Given the description of an element on the screen output the (x, y) to click on. 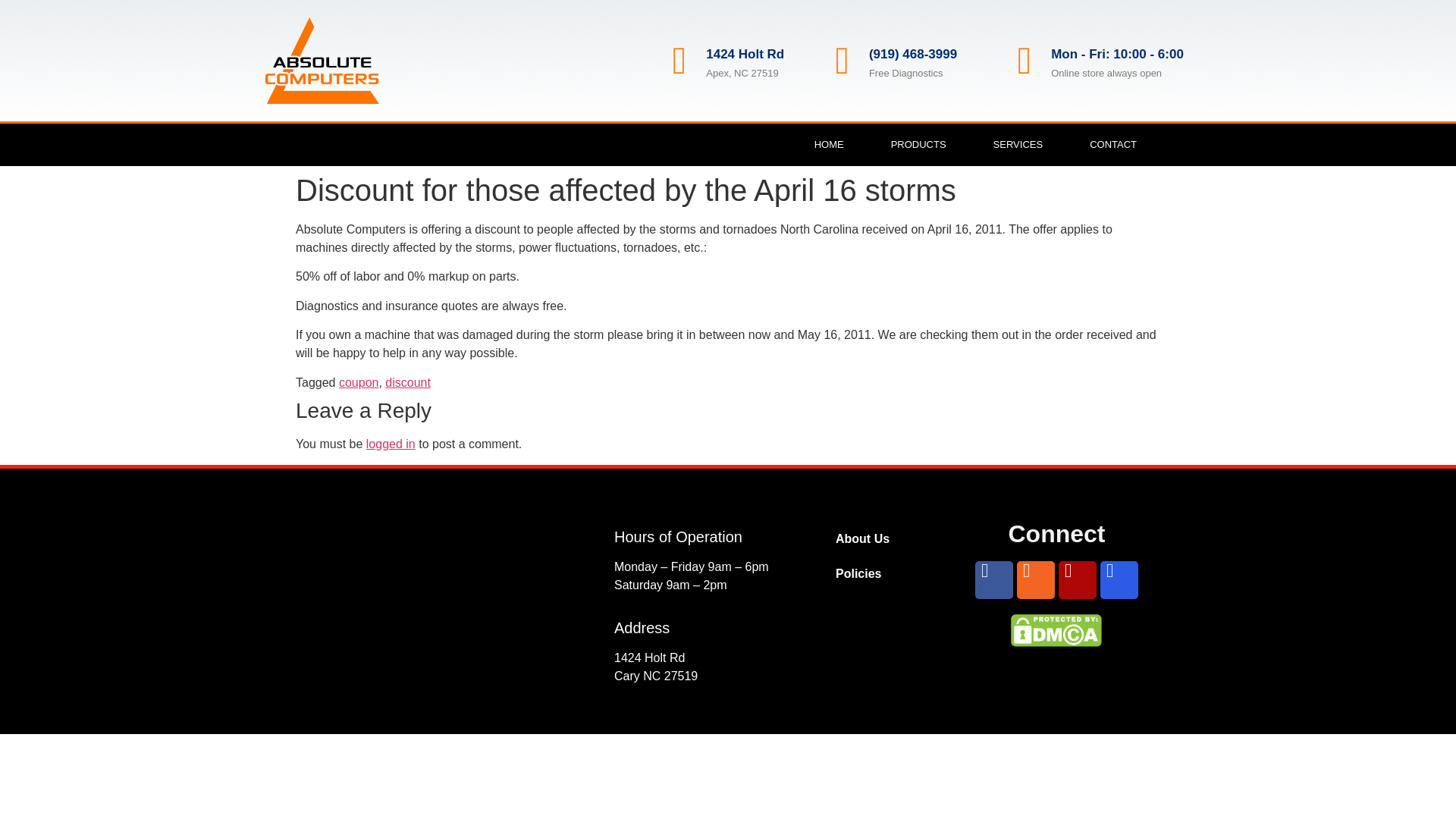
PRODUCTS (918, 144)
coupon (358, 382)
SERVICES (1018, 144)
Policies (887, 573)
HOME (828, 144)
About Us (887, 538)
Absolute Computers 1424 Holt Rd, Cary, NC 27519 (435, 607)
discount (407, 382)
logged in (390, 443)
CONTACT (1112, 144)
